Given the description of an element on the screen output the (x, y) to click on. 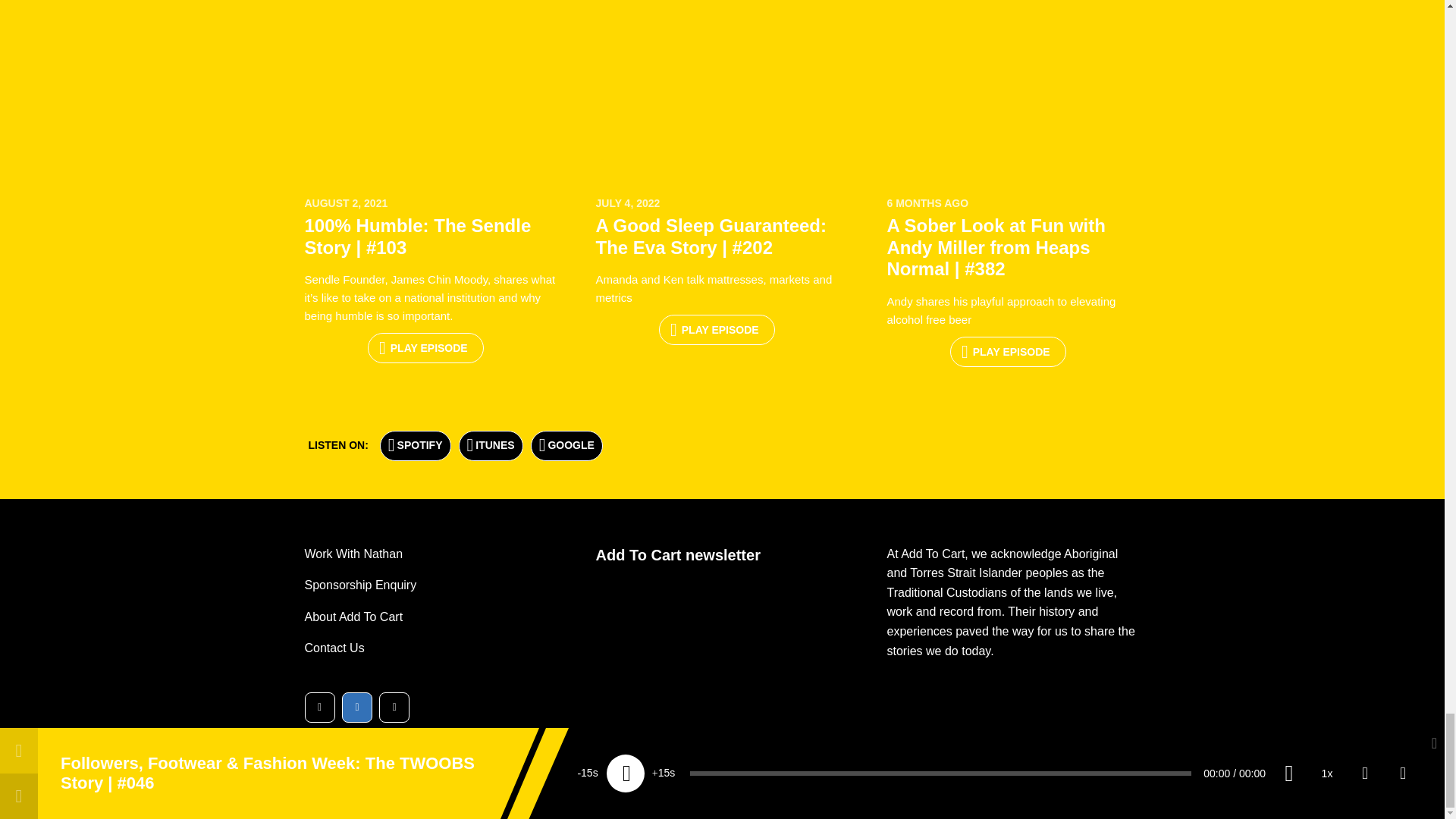
Form 0 (721, 638)
Instagram (319, 707)
Linkedin (357, 707)
Facebook (393, 707)
